Given the description of an element on the screen output the (x, y) to click on. 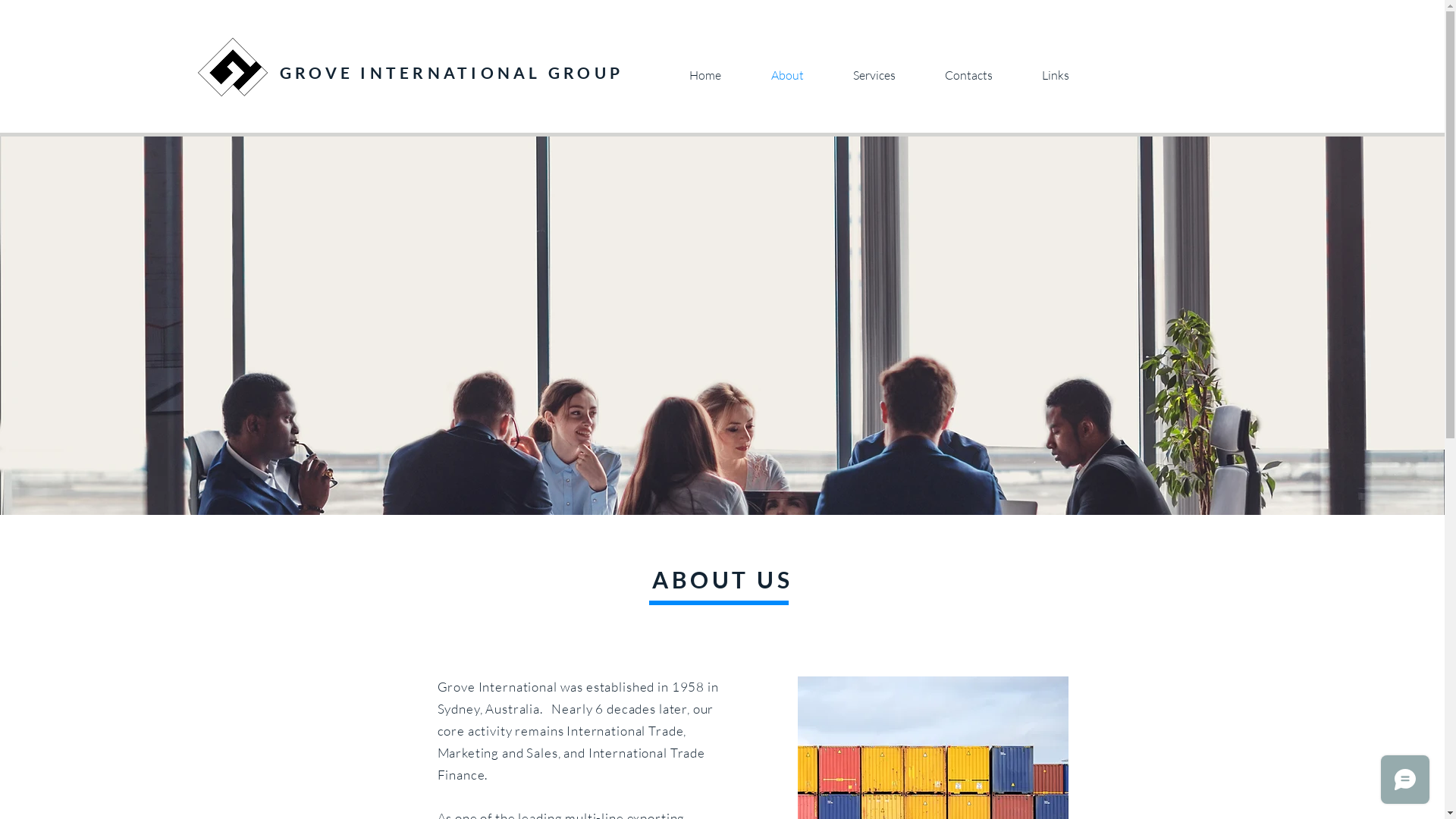
About Element type: text (787, 74)
Contacts Element type: text (968, 74)
Services Element type: text (873, 74)
Home Element type: text (705, 74)
Links Element type: text (1055, 74)
